Given the description of an element on the screen output the (x, y) to click on. 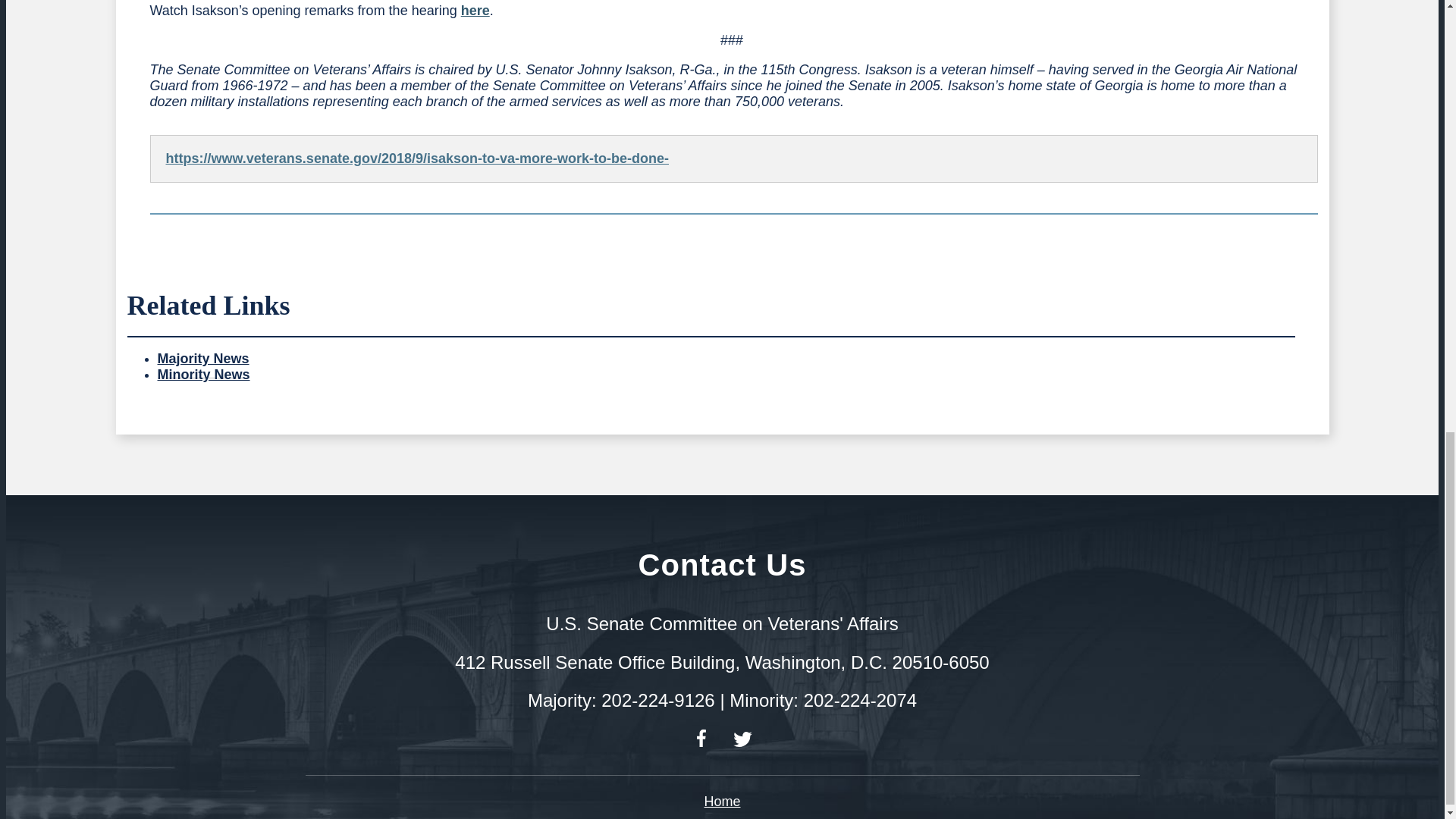
Facebook (701, 737)
Twitter (741, 738)
